Given the description of an element on the screen output the (x, y) to click on. 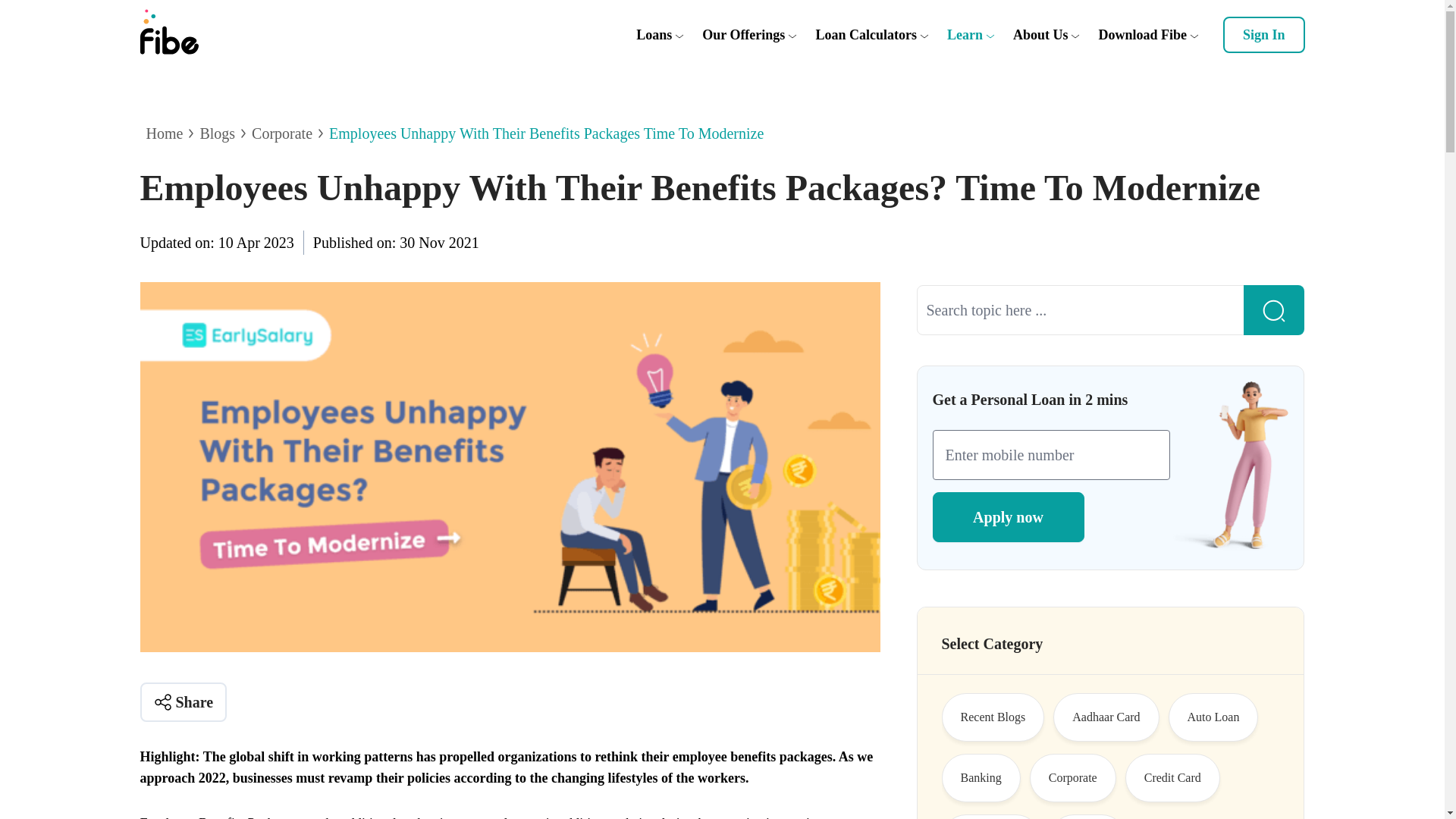
Our Offerings (742, 34)
Download Fibe (1141, 34)
Blogs (217, 133)
Loan Calculators (866, 34)
Sign In (1263, 34)
About Us (1040, 34)
Home (164, 133)
Corporate (282, 133)
